Given the description of an element on the screen output the (x, y) to click on. 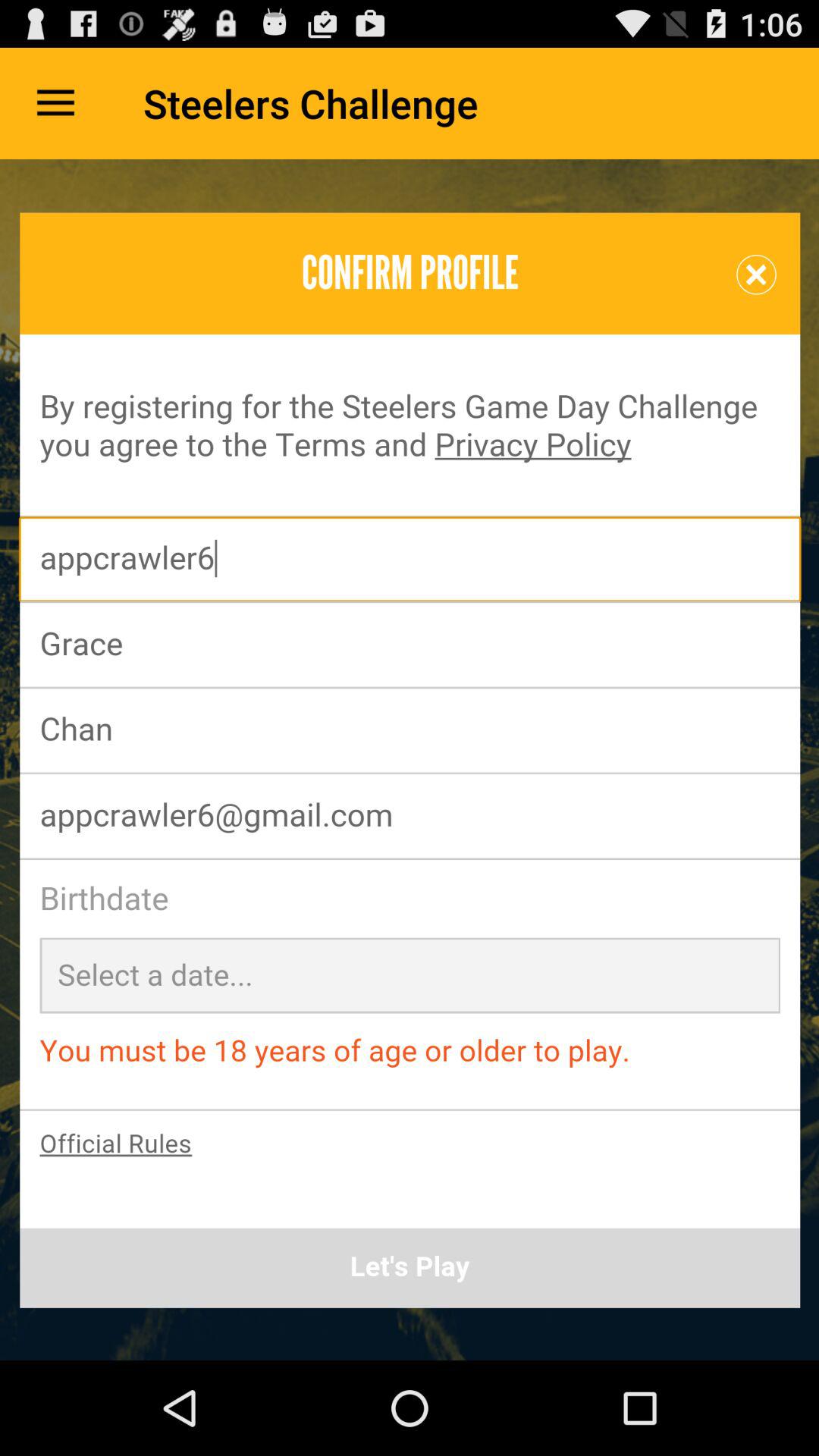
go to profile (409, 759)
